Given the description of an element on the screen output the (x, y) to click on. 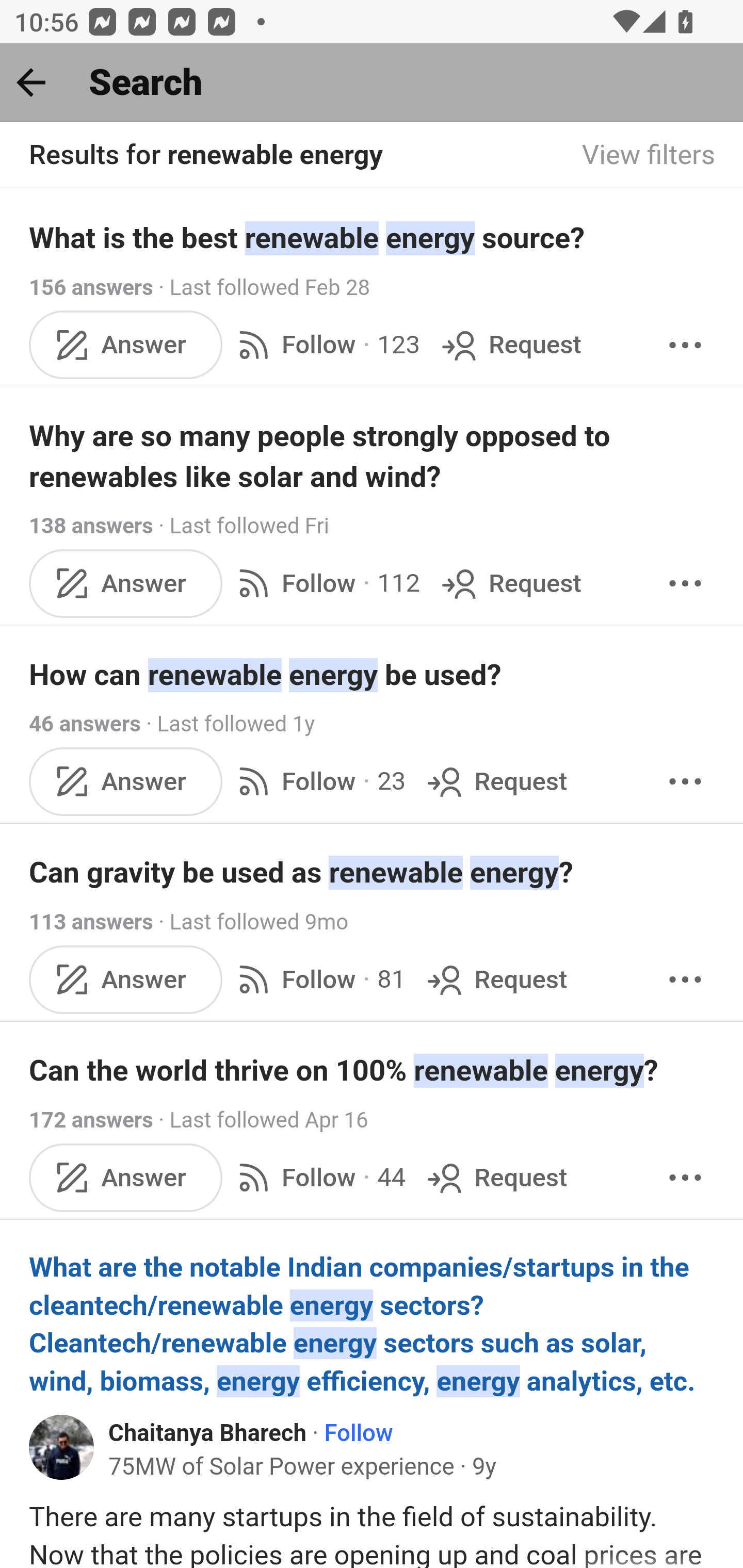
Back Search (371, 82)
Back (30, 82)
View filters (648, 155)
What is the best renewable energy source? (372, 237)
156 answers 156  answers (90, 287)
Answer (125, 343)
Follow · 123 (324, 343)
Request (509, 343)
More (684, 343)
138 answers 138  answers (90, 525)
Answer (125, 582)
Follow · 112 (324, 582)
Request (509, 582)
More (684, 582)
How can renewable energy be used? (372, 674)
46 answers 46  answers (84, 723)
Answer (125, 781)
Follow · 23 (317, 781)
Request (495, 781)
More (684, 781)
Can gravity be used as renewable energy? (372, 872)
113 answers 113  answers (90, 922)
Answer (125, 979)
Follow · 81 (317, 979)
Request (495, 979)
More (684, 979)
Can the world thrive on 100% renewable energy? (372, 1070)
172 answers 172  answers (90, 1120)
Answer (125, 1176)
Follow · 44 (317, 1176)
Request (495, 1176)
More (684, 1176)
Profile photo for Chaitanya Bharech (61, 1447)
Chaitanya Bharech (207, 1433)
Follow (358, 1433)
9y 9 y (484, 1467)
